Given the description of an element on the screen output the (x, y) to click on. 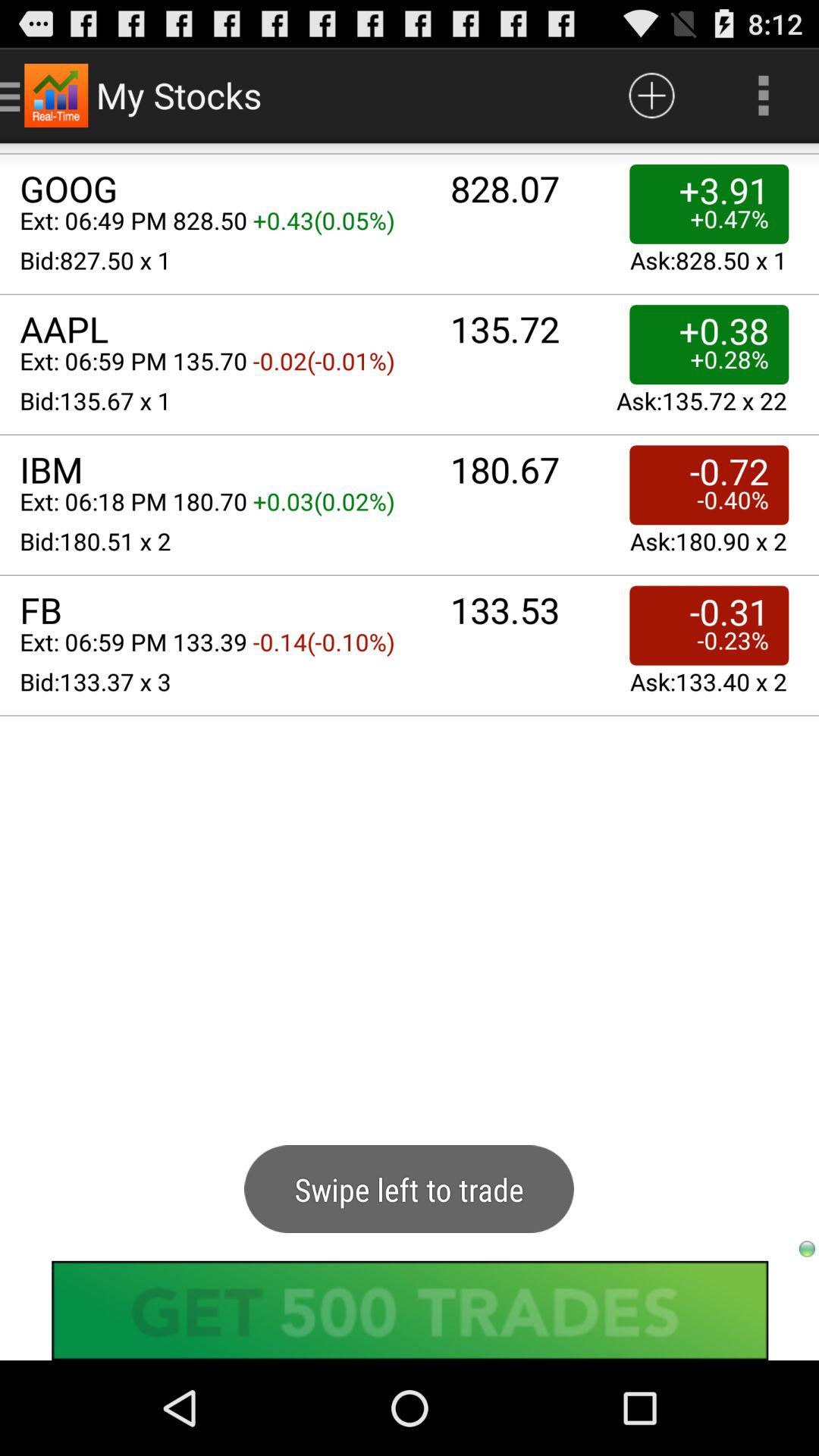
advertisement (409, 1310)
